Given the description of an element on the screen output the (x, y) to click on. 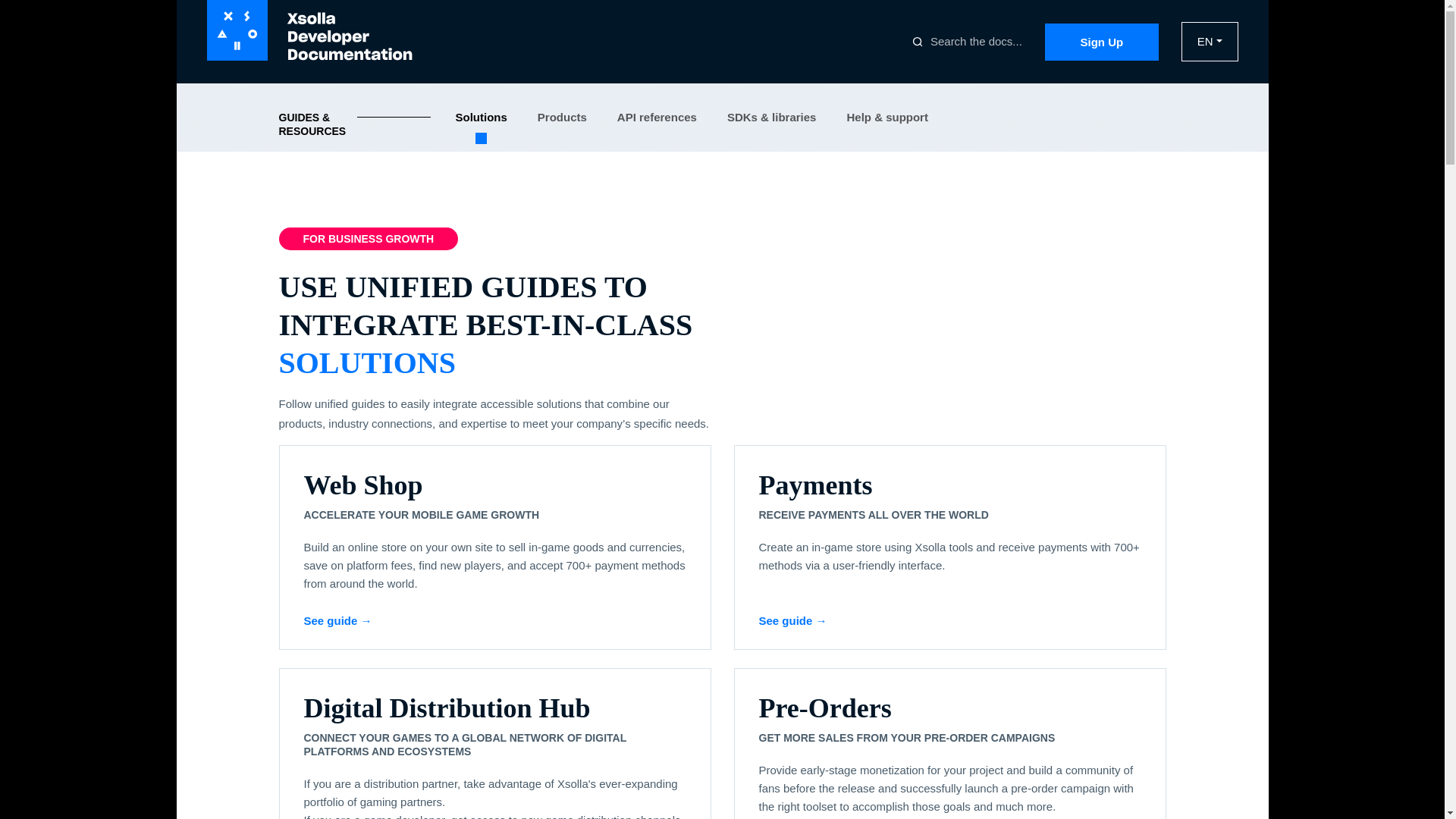
Solutions (480, 125)
API references (657, 117)
Sign Up (1101, 40)
Products (561, 117)
EN (1209, 41)
